Given the description of an element on the screen output the (x, y) to click on. 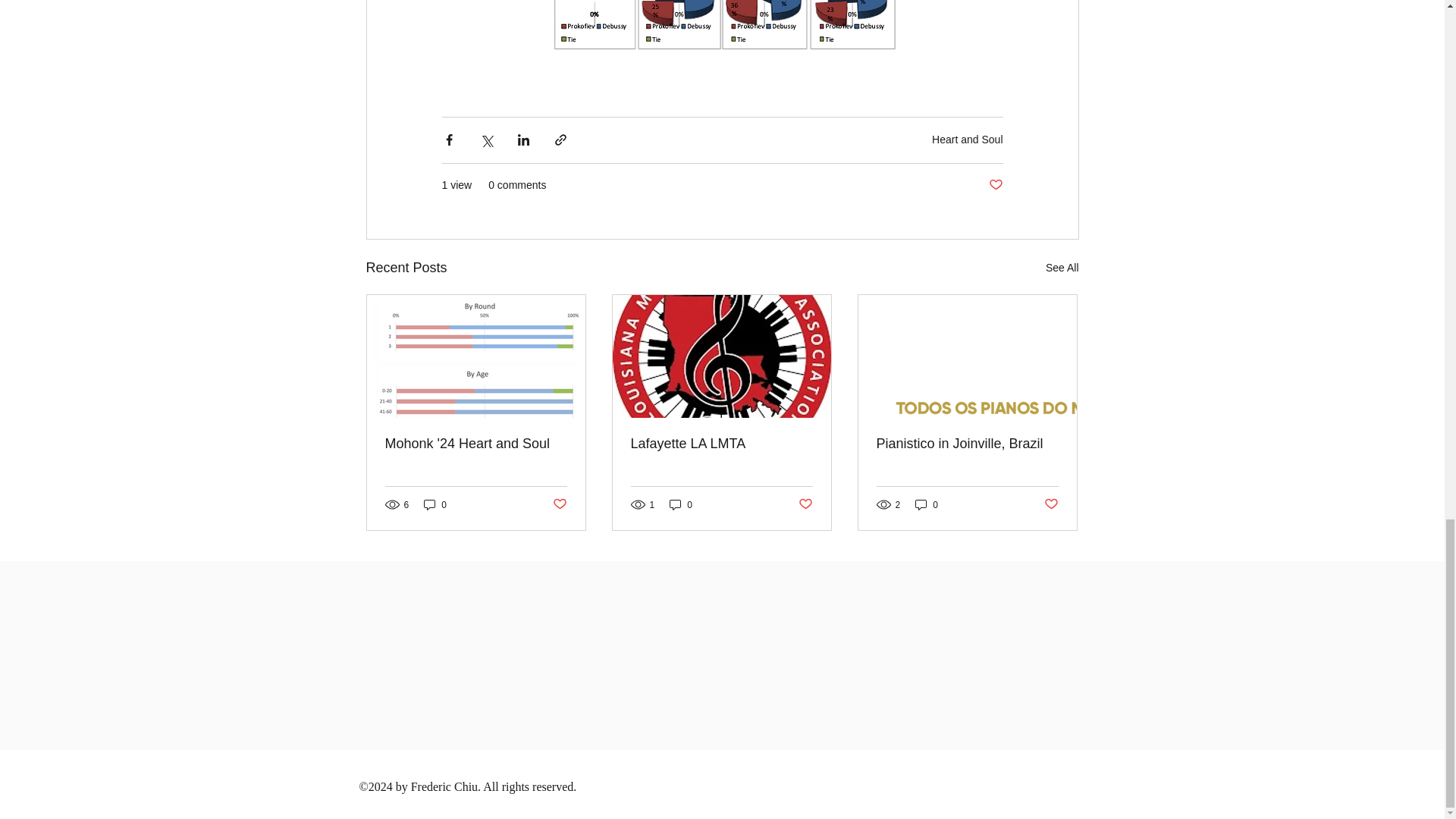
Post not marked as liked (558, 504)
Heart and Soul (967, 139)
Lafayette LA LMTA (721, 443)
Post not marked as liked (995, 185)
See All (1061, 268)
0 (435, 504)
Mohonk '24 Heart and Soul (476, 443)
